Given the description of an element on the screen output the (x, y) to click on. 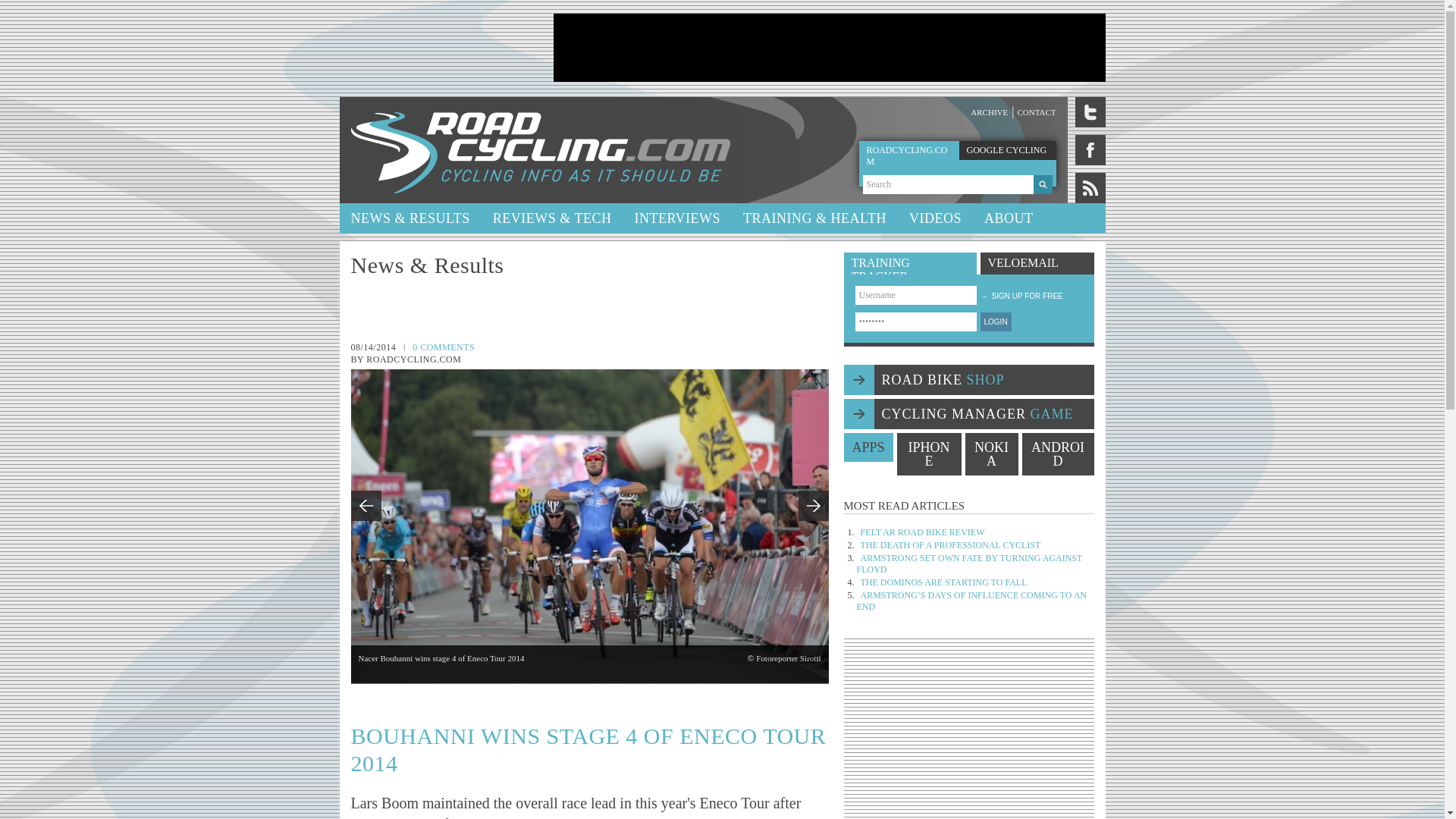
NOKIA (990, 454)
Advertisement (969, 733)
INTERVIEWS (677, 218)
Advertisement (829, 47)
THE DEATH OF A PROFESSIONAL CYCLIST (950, 544)
IPHONE (928, 454)
LOGIN (994, 321)
VIDEOS (935, 218)
ABOUT (1008, 218)
FELT AR ROAD BIKE REVIEW (922, 532)
0 COMMENTS (443, 346)
CYCLING MANAGER GAME (968, 413)
Username (916, 294)
ANDROID (1058, 454)
THE DOMINOS ARE STARTING TO FALL (943, 582)
